Given the description of an element on the screen output the (x, y) to click on. 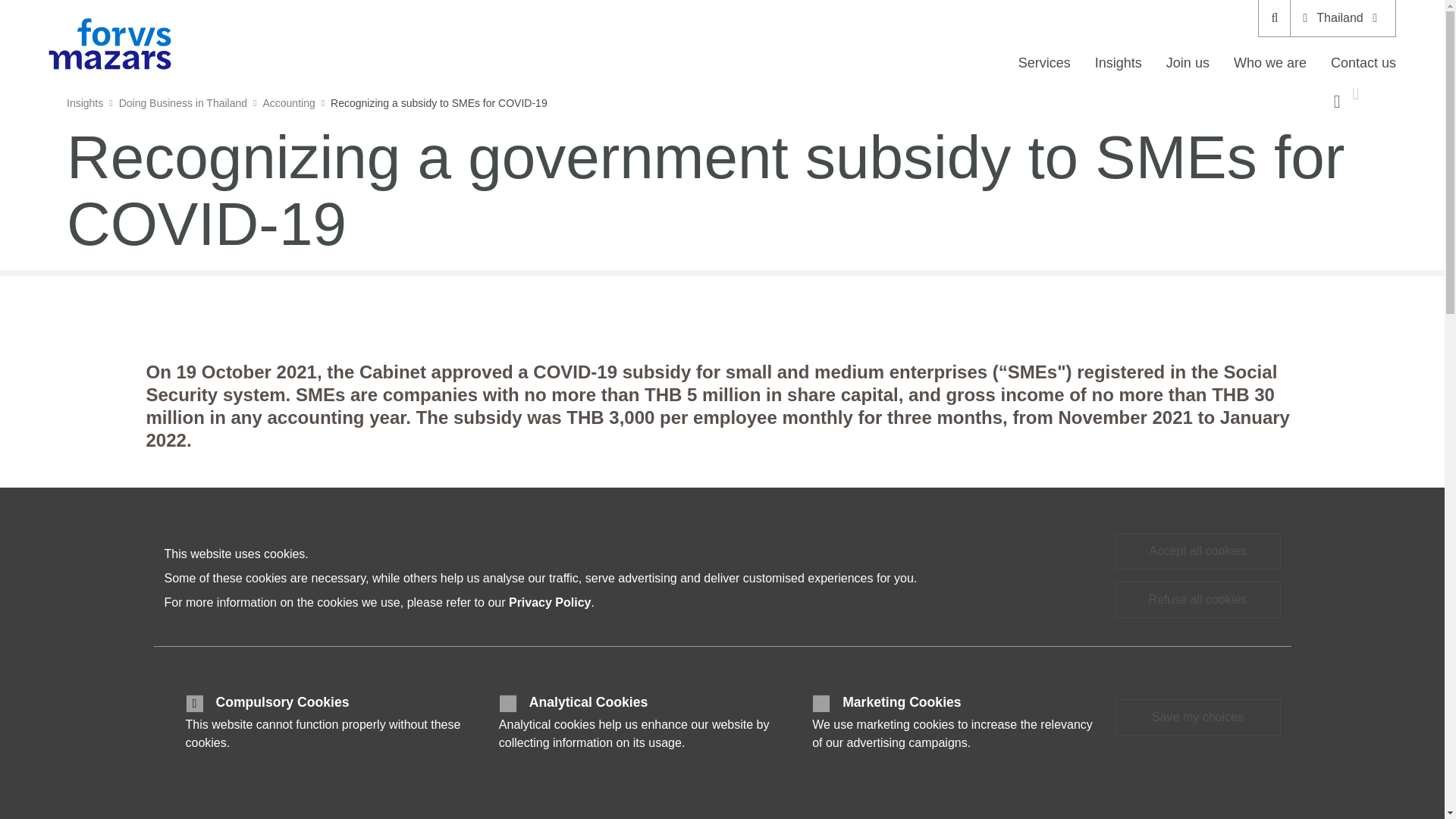
Thailand (1342, 18)
